Given the description of an element on the screen output the (x, y) to click on. 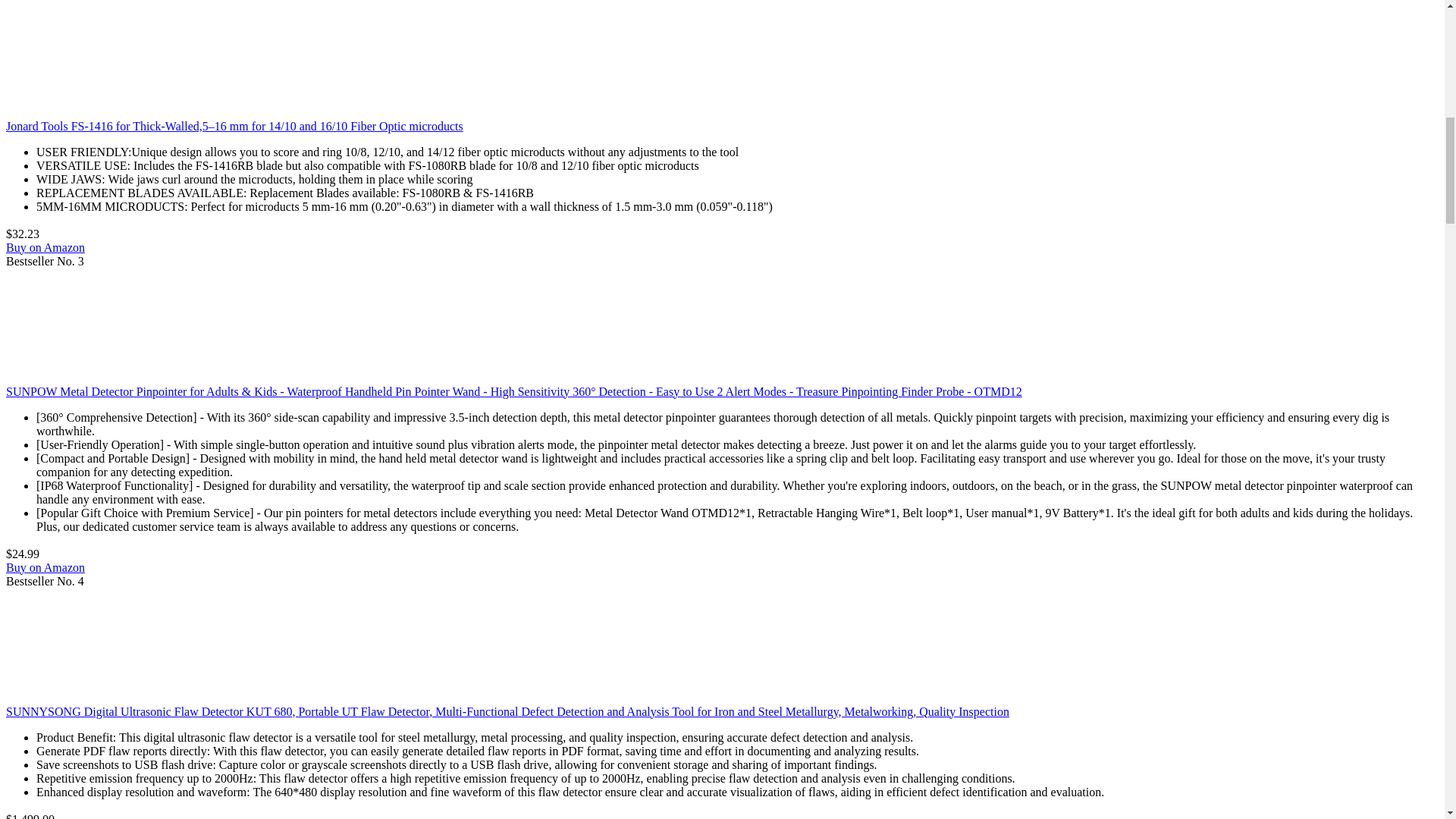
Buy on Amazon (44, 246)
Buy on Amazon (44, 567)
Amazon Prime (63, 233)
Buy on Amazon (44, 567)
Amazon Prime (78, 816)
Amazon Prime (63, 553)
Buy on Amazon (44, 246)
